Given the description of an element on the screen output the (x, y) to click on. 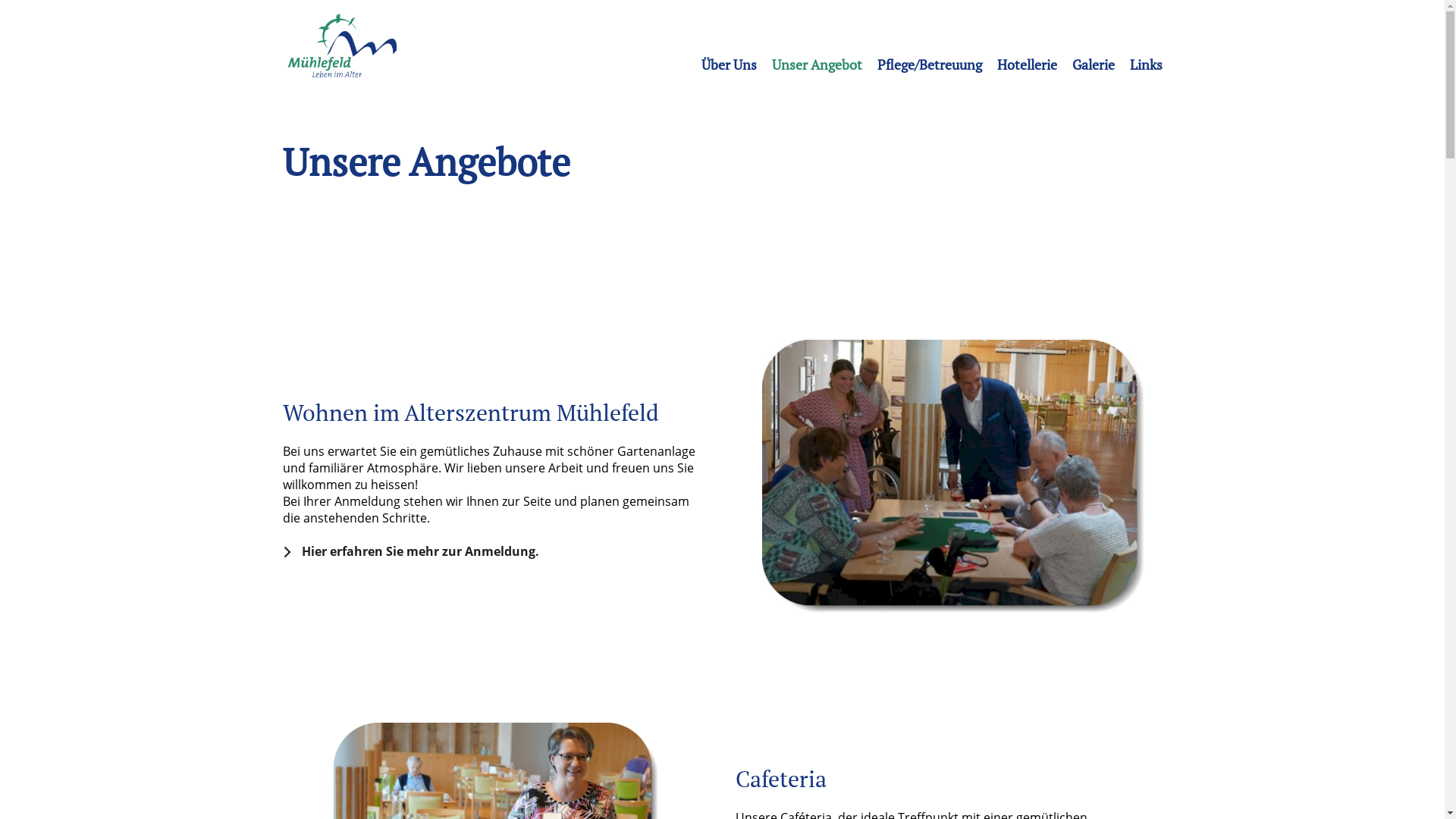
Unser Angebot Element type: text (816, 64)
Hotellerie Element type: text (1025, 64)
Galerie Element type: text (1093, 64)
Pflege/Betreuung Element type: text (928, 64)
Hier erfahren Sie mehr zur Anmeldung. Element type: text (417, 550)
Links Element type: text (1146, 64)
